Given the description of an element on the screen output the (x, y) to click on. 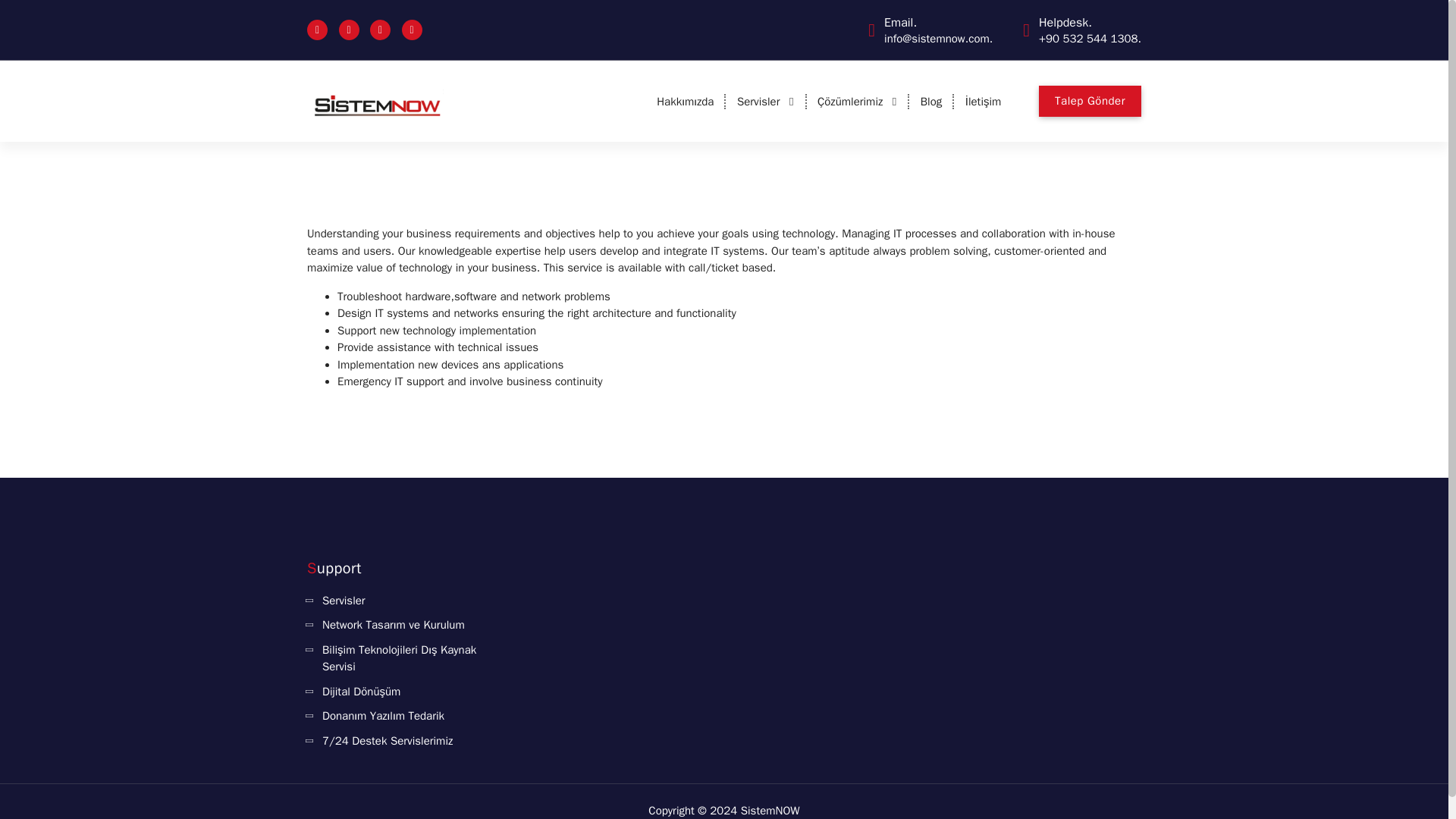
Blog (930, 101)
Servisler (765, 101)
Servisler (336, 600)
Servisler (765, 101)
Blog (930, 101)
